Given the description of an element on the screen output the (x, y) to click on. 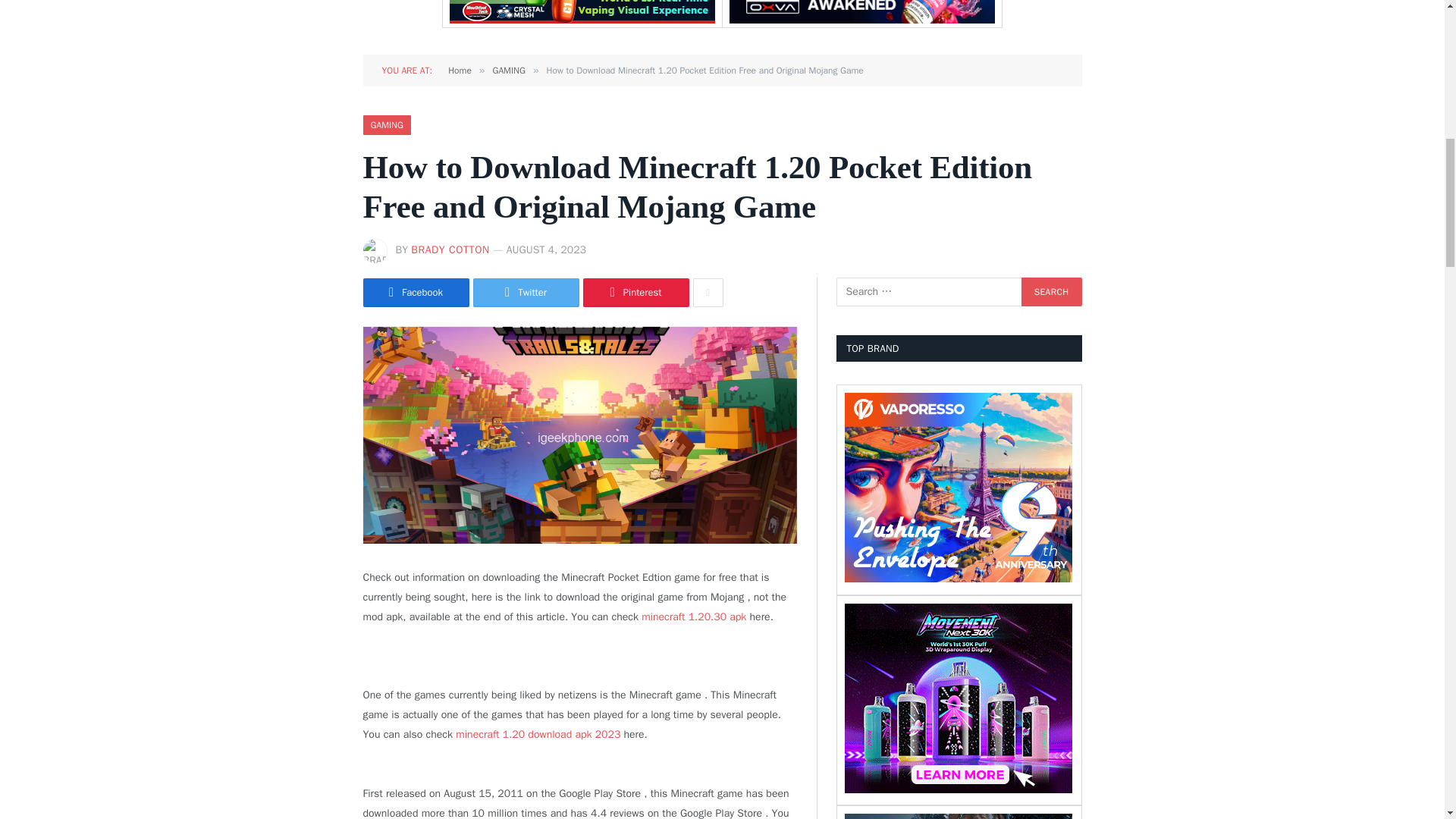
Search (1051, 291)
Show More Social Sharing (708, 292)
Share on Twitter (526, 292)
Search (1051, 291)
Share on Pinterest (635, 292)
Share on Facebook (415, 292)
Posts by Brady Cotton (449, 249)
